Given the description of an element on the screen output the (x, y) to click on. 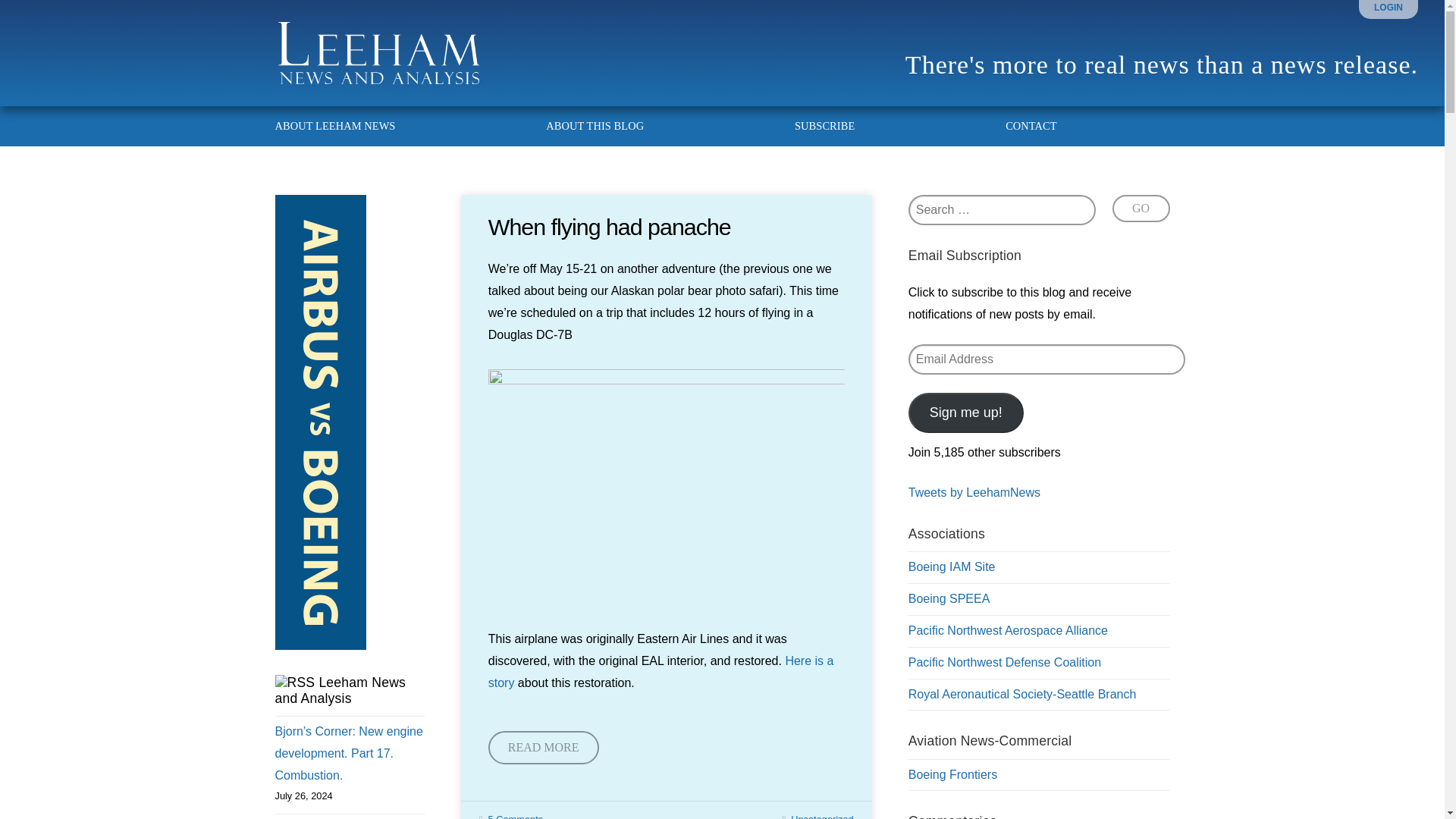
Here is a story (660, 671)
When flying had panache (608, 226)
LOGIN (1388, 7)
CONTACT (1022, 126)
When flying had panache (608, 226)
Leeham News and Analysis (340, 689)
SUBSCRIBE (824, 126)
5 Comments (515, 816)
ABOUT LEEHAM NEWS (344, 126)
Go (1141, 207)
ABOUT THIS BLOG (594, 126)
READ MORE (542, 747)
EAL DC7 (665, 487)
Uncategorized (821, 816)
